Given the description of an element on the screen output the (x, y) to click on. 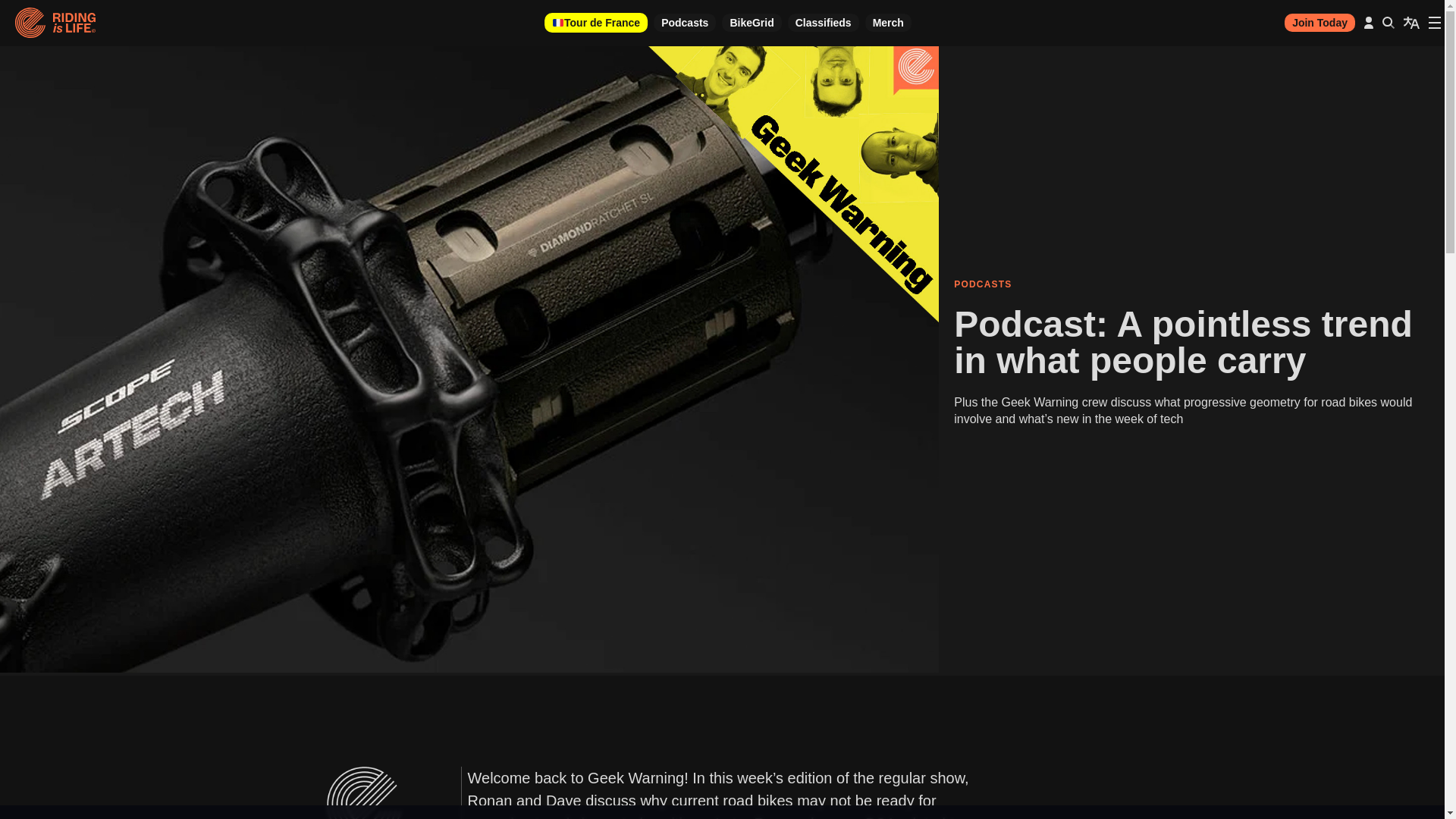
Classifieds (823, 22)
Merch (887, 22)
Podcasts (684, 22)
Tour de France (595, 22)
BikeGrid (751, 22)
Join Today (1319, 22)
